Given the description of an element on the screen output the (x, y) to click on. 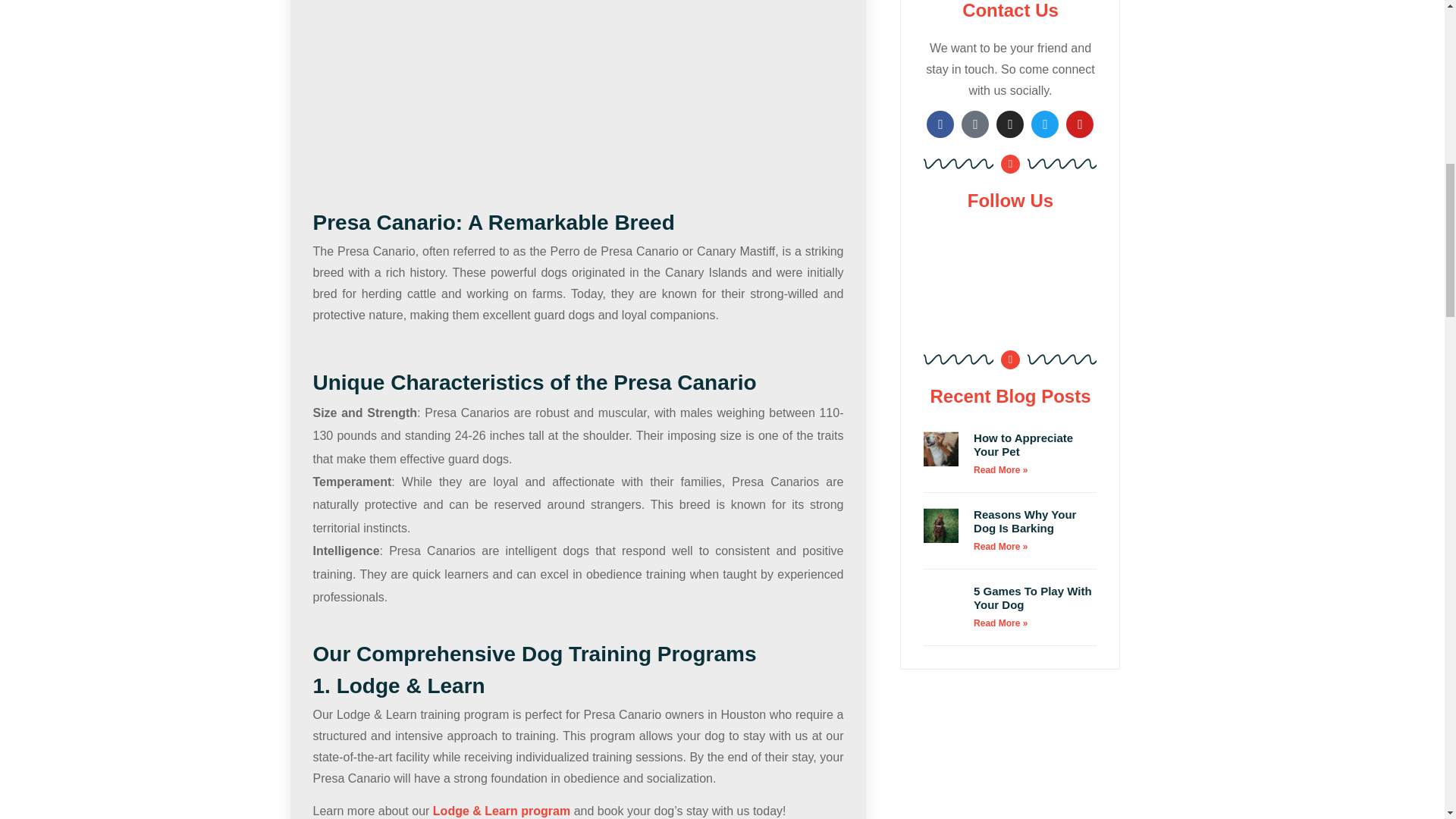
DEFINING THE PRESA CANARIO (578, 79)
